Given the description of an element on the screen output the (x, y) to click on. 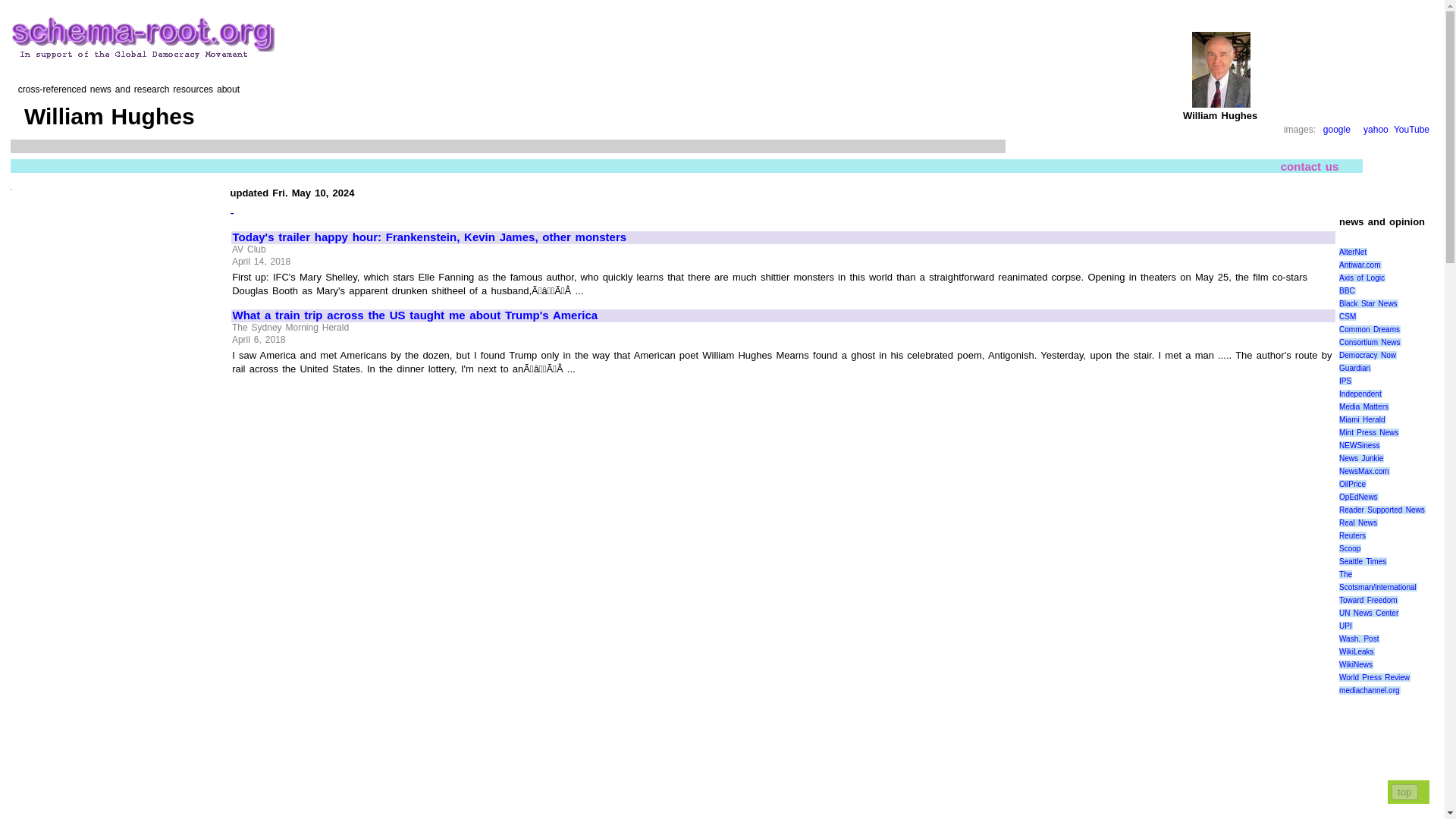
search Google Images for William Hughes (1337, 129)
contact us (1310, 165)
search YouTube for William Hughes (1411, 129)
Advertisement (357, 703)
CSM (1347, 316)
Antiwar.com (1359, 265)
AlterNet (1353, 252)
Common Dreams (1369, 329)
google (1337, 129)
yahoo (1375, 129)
YouTube (1411, 129)
search Yahoo Images for William Hughes (1375, 129)
Black Star News (1368, 303)
